Given the description of an element on the screen output the (x, y) to click on. 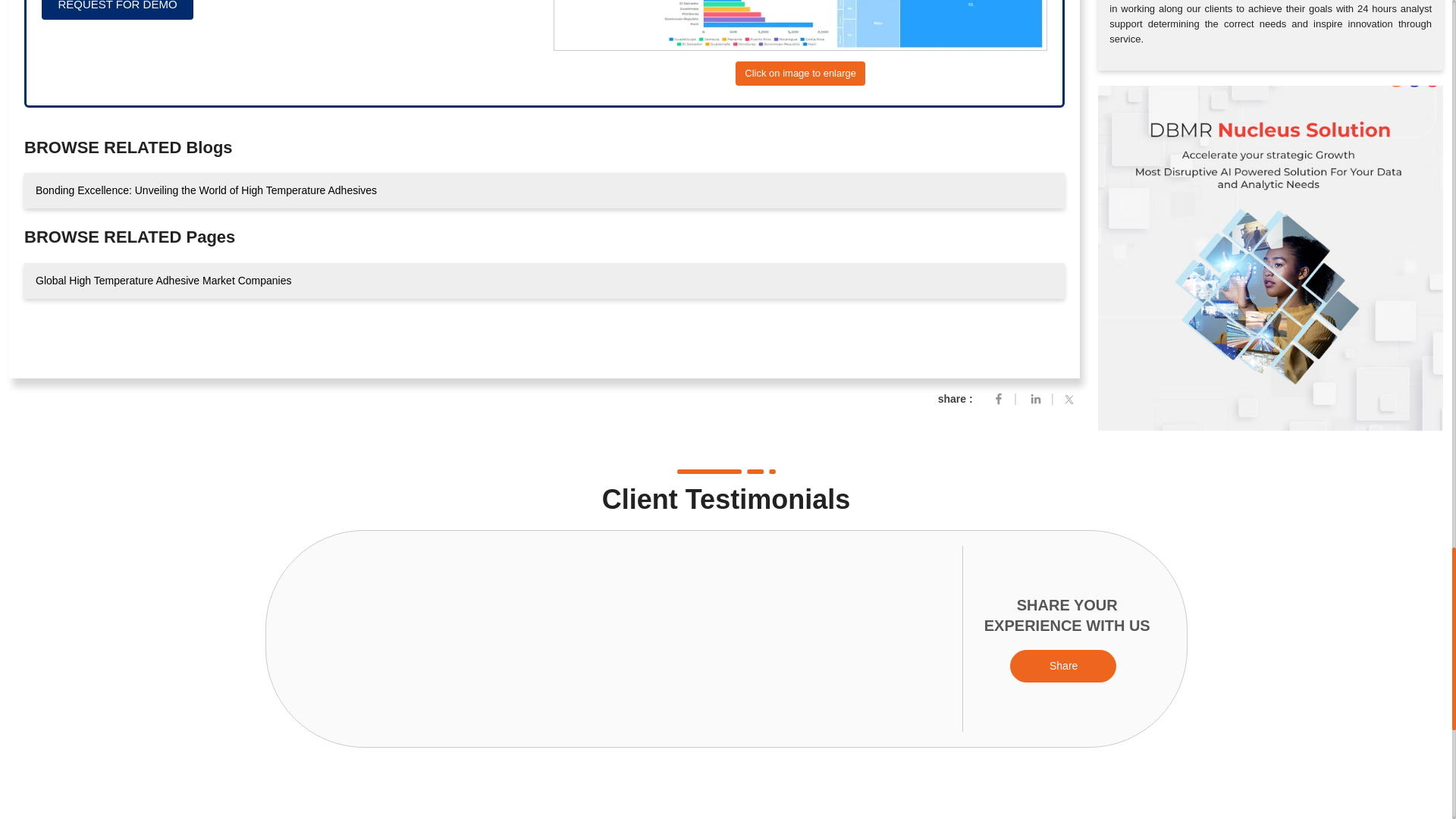
LinkIn (1035, 398)
Facebook (998, 398)
Twitter (1072, 398)
